Given the description of an element on the screen output the (x, y) to click on. 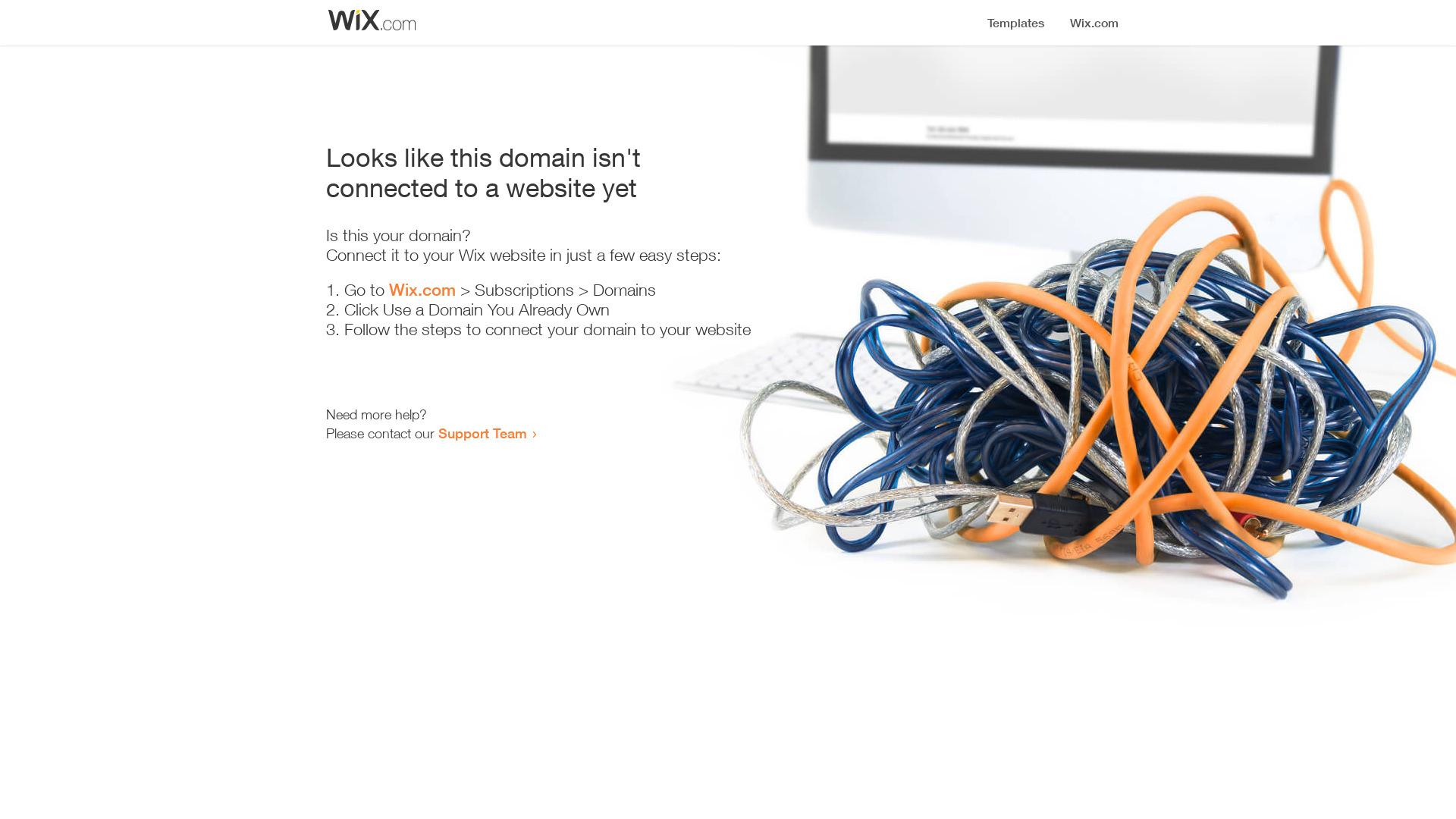
Support Team Element type: text (482, 432)
Wix.com Element type: text (422, 289)
